Given the description of an element on the screen output the (x, y) to click on. 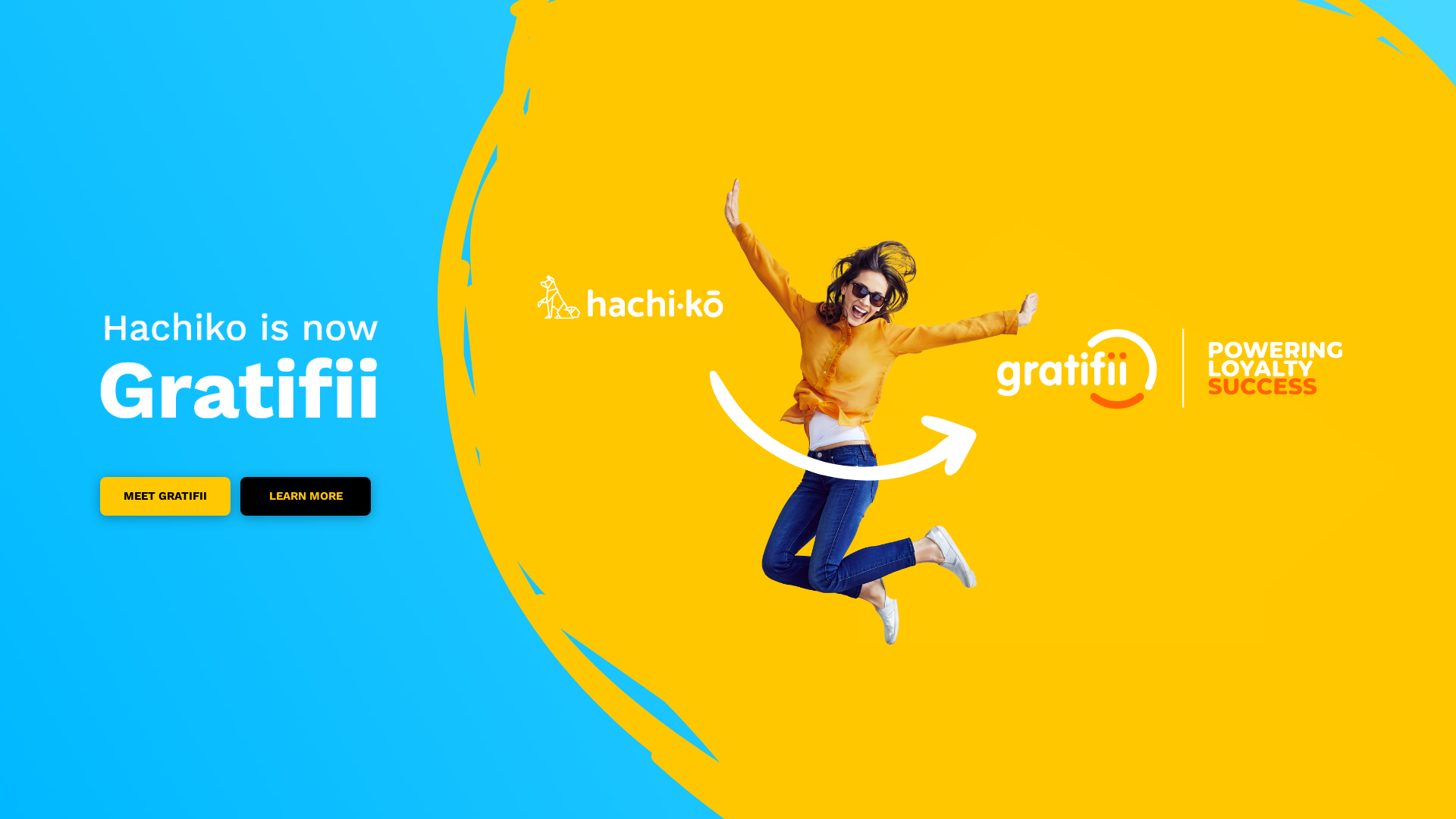
LEARN MORE Element type: text (305, 495)
MEET GRATIFII Element type: text (165, 495)
